Given the description of an element on the screen output the (x, y) to click on. 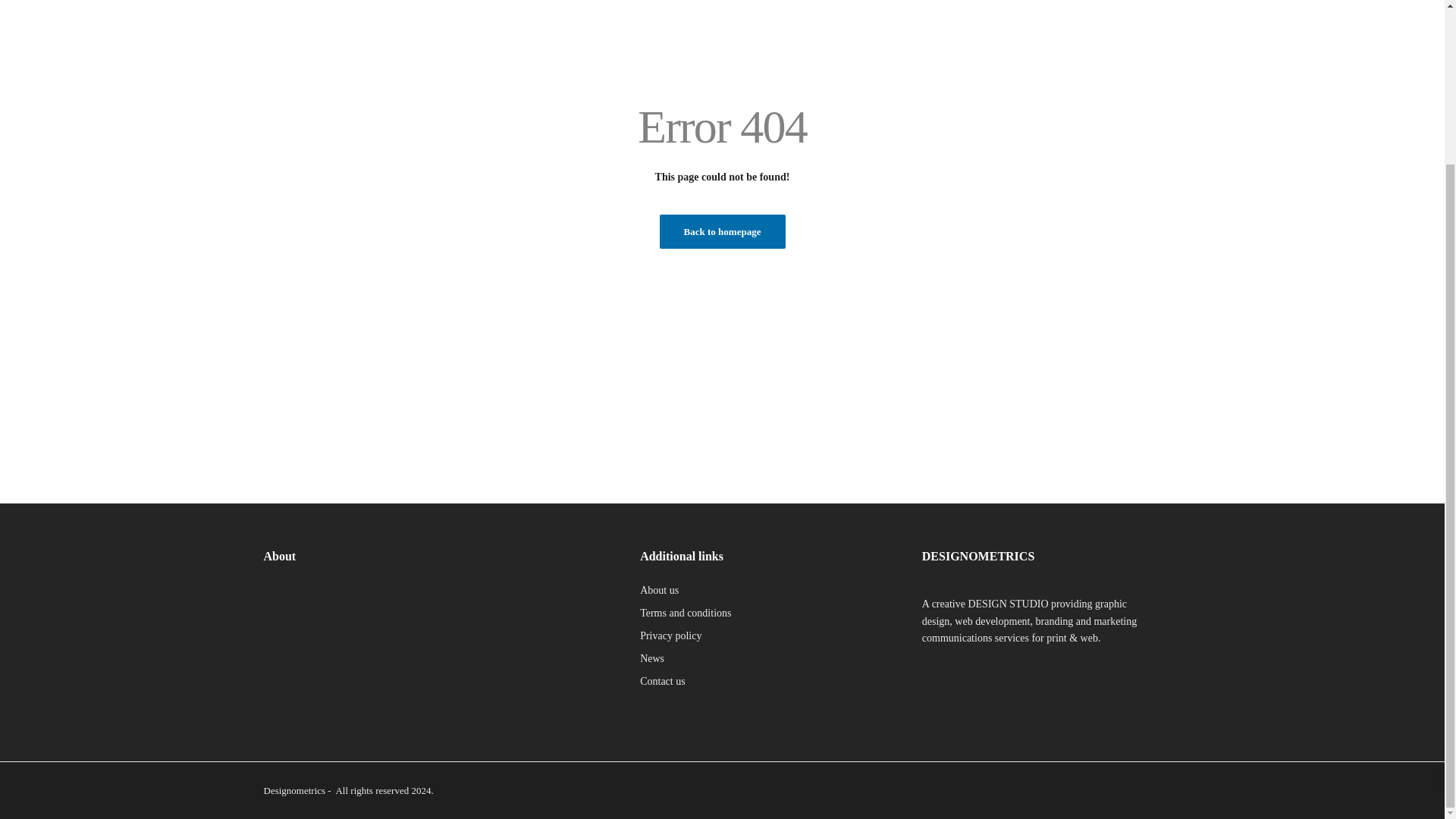
Contact us (662, 681)
About us (659, 590)
Terms and conditions (685, 613)
News (651, 658)
Privacy policy (670, 635)
Back to homepage (722, 231)
